Given the description of an element on the screen output the (x, y) to click on. 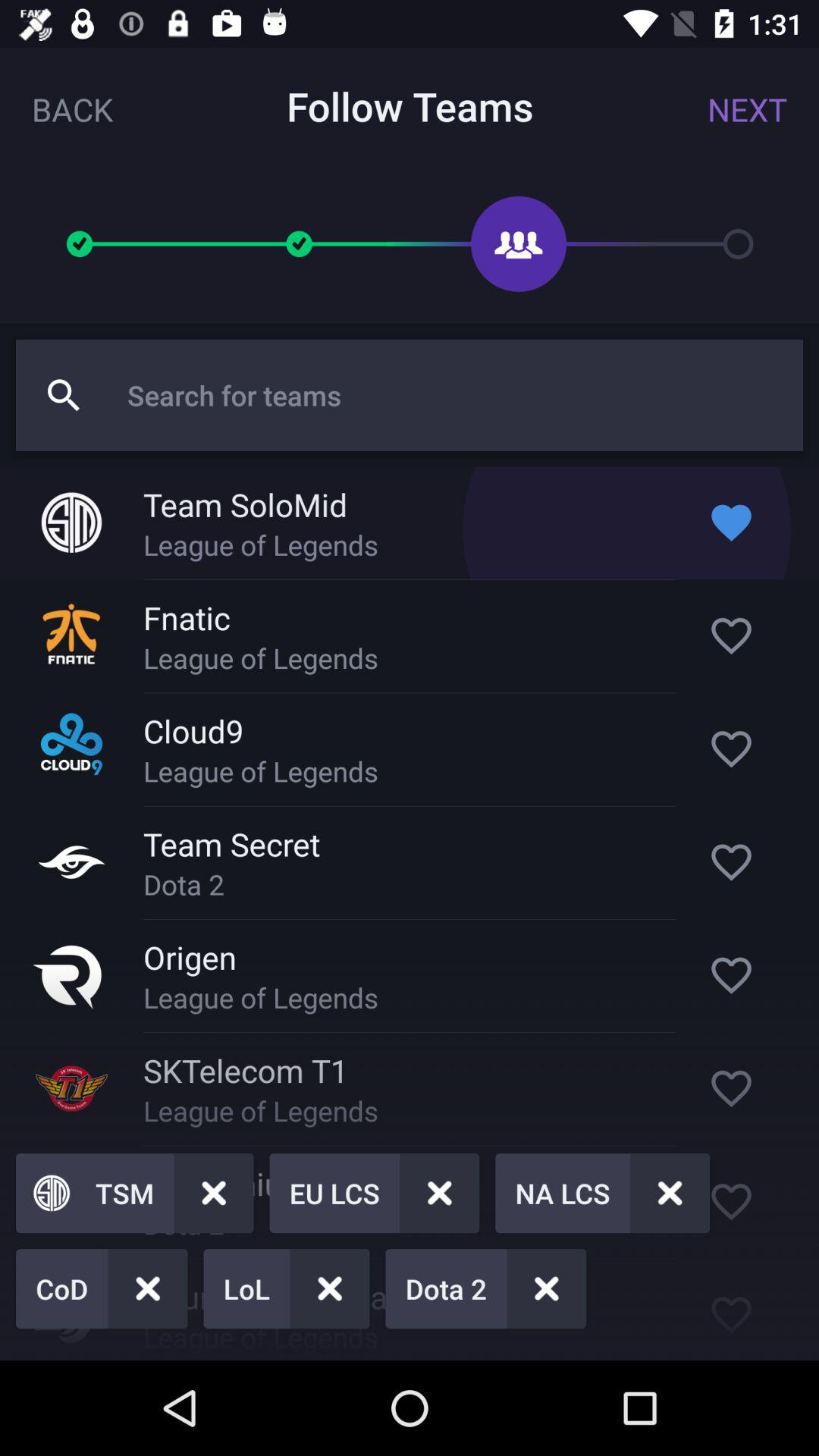
enter search term (457, 395)
